Given the description of an element on the screen output the (x, y) to click on. 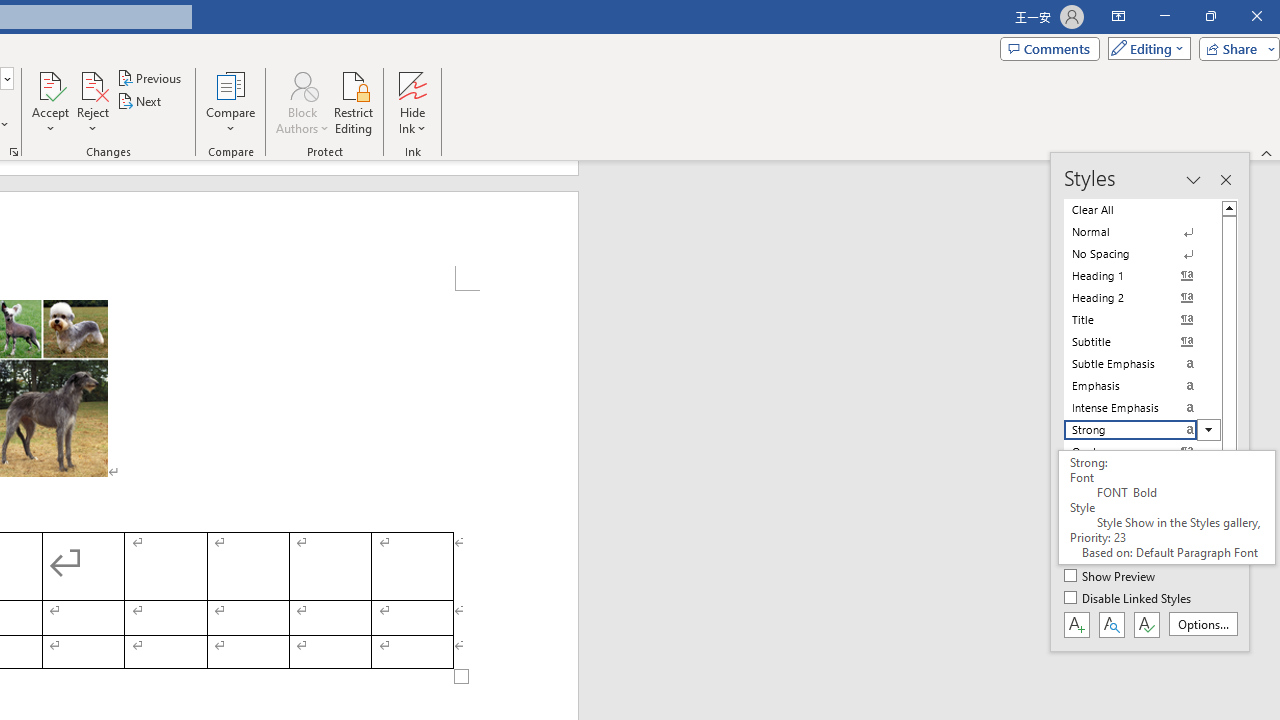
Hide Ink (412, 84)
Reject (92, 102)
Block Authors (302, 102)
Intense Emphasis (1142, 407)
Hide Ink (412, 102)
Options... (1202, 623)
Quote (1142, 451)
Book Title (1142, 539)
Restrict Editing (353, 102)
Next (140, 101)
Emphasis (1142, 385)
Heading 1 (1142, 275)
